Given the description of an element on the screen output the (x, y) to click on. 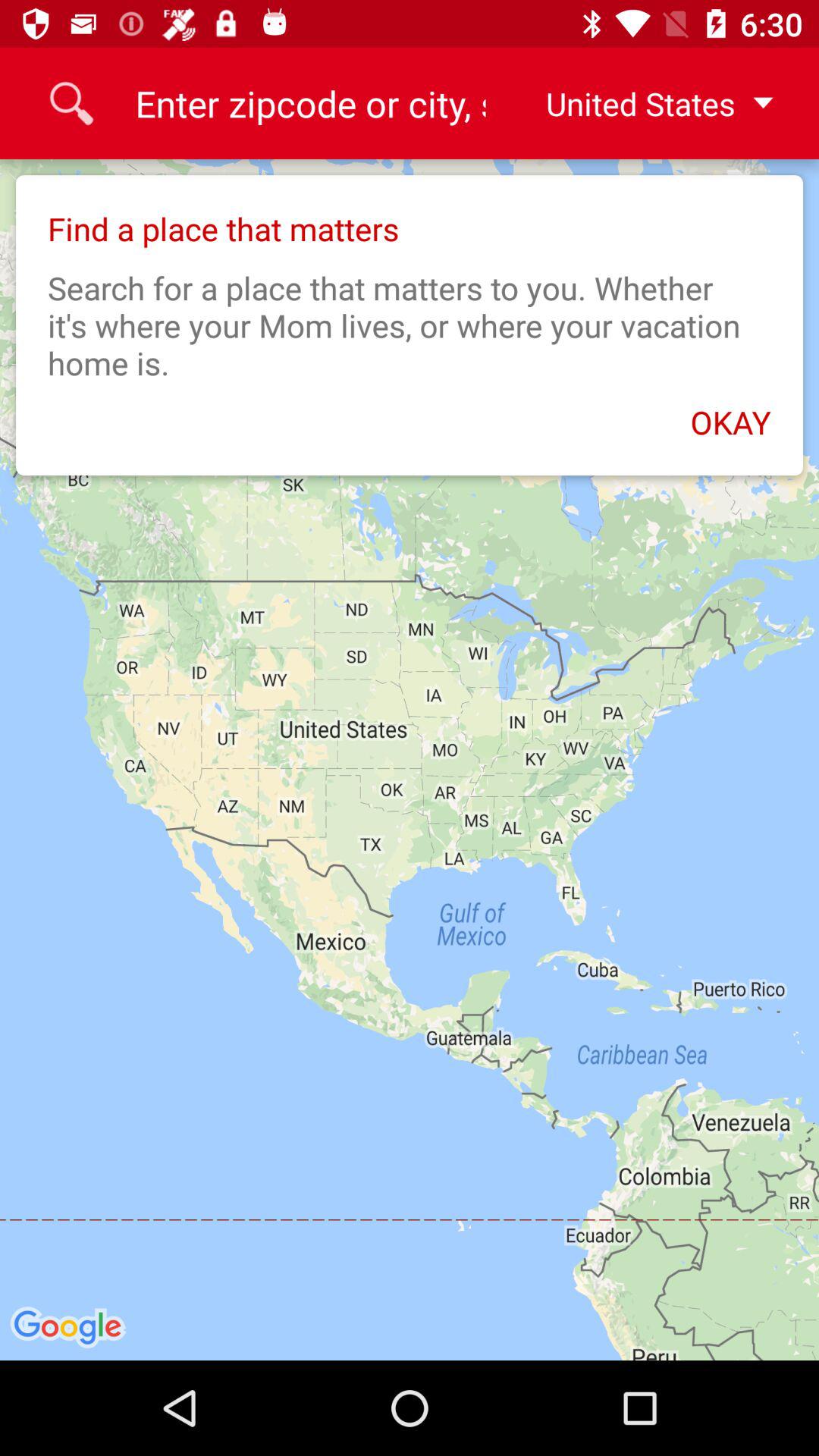
click okay item (409, 413)
